Given the description of an element on the screen output the (x, y) to click on. 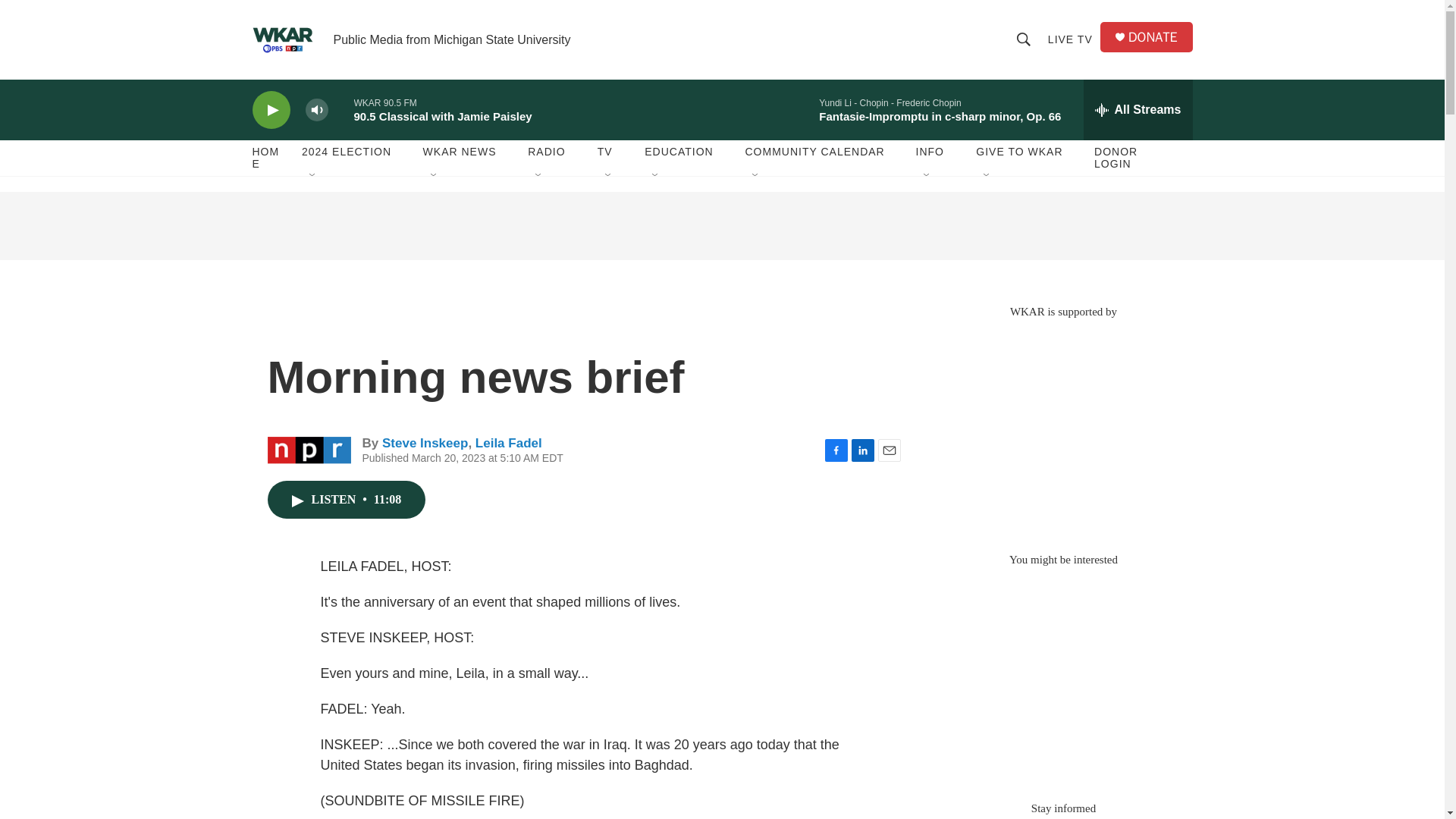
3rd party ad content (1062, 677)
3rd party ad content (721, 225)
3rd party ad content (1062, 428)
